Given the description of an element on the screen output the (x, y) to click on. 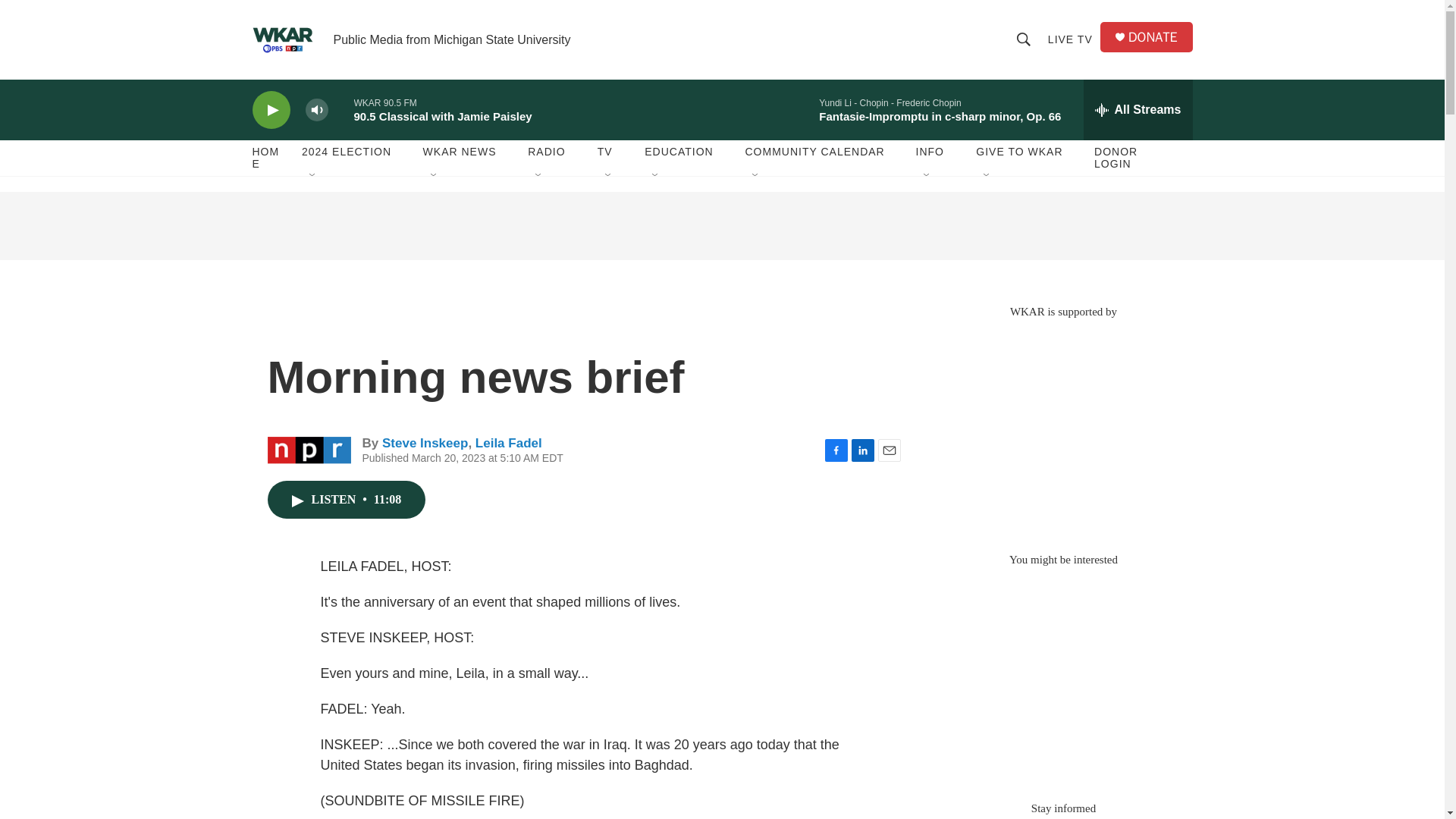
3rd party ad content (1062, 677)
3rd party ad content (721, 225)
3rd party ad content (1062, 428)
